Given the description of an element on the screen output the (x, y) to click on. 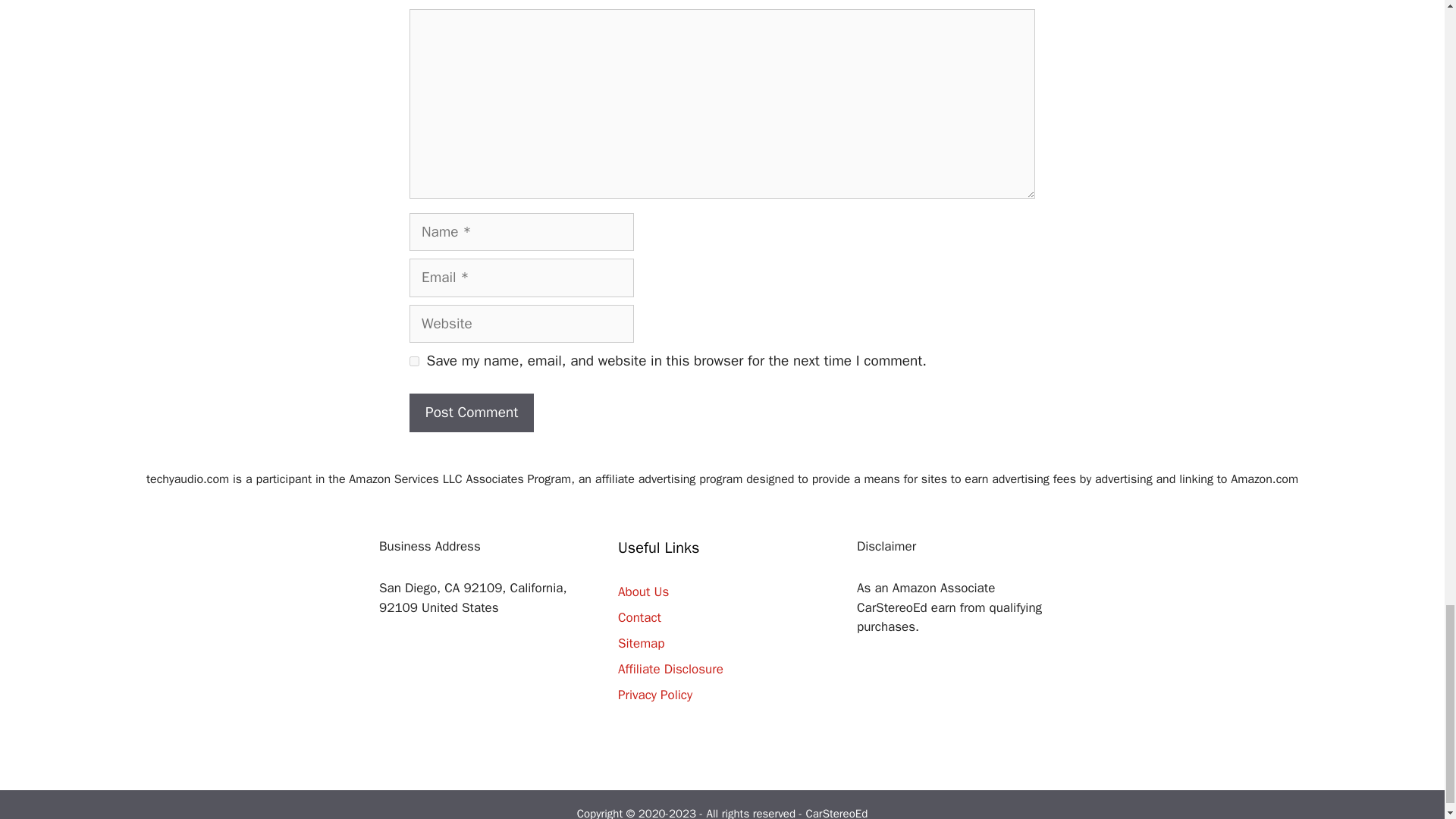
Affiliate Disclosure (670, 668)
Post Comment (471, 412)
Privacy Policy (655, 694)
DMCA.com Protection Status (483, 749)
About Us (642, 591)
yes (414, 361)
Post Comment (471, 412)
Sitemap (640, 643)
Contact (639, 617)
